Given the description of an element on the screen output the (x, y) to click on. 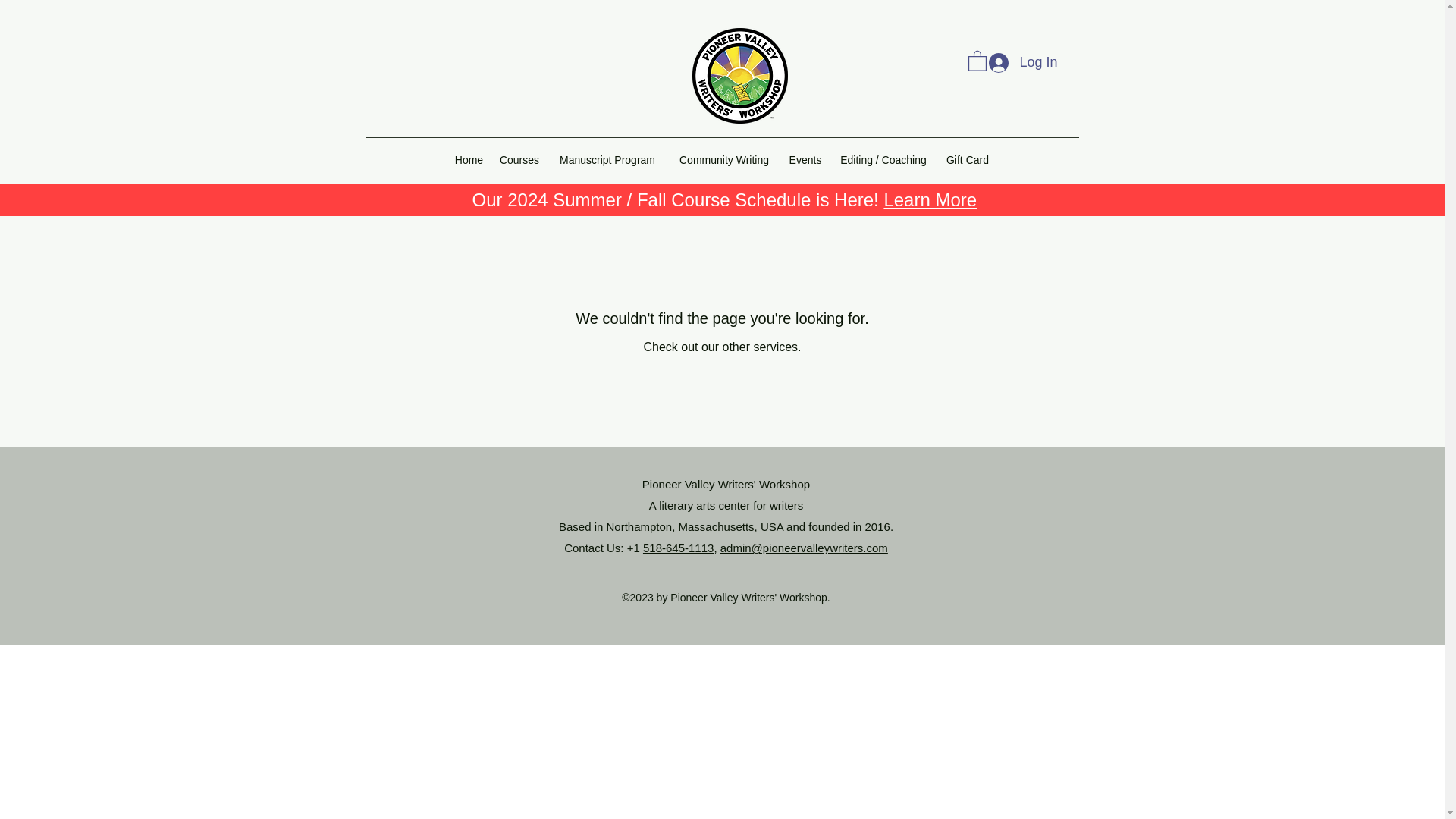
Manuscript Program (606, 159)
Community Writing (723, 159)
Gift Card (967, 159)
Events (804, 159)
Log In (722, 327)
Courses (519, 159)
Log In (1022, 62)
Home (469, 159)
Learn More (929, 199)
